Given the description of an element on the screen output the (x, y) to click on. 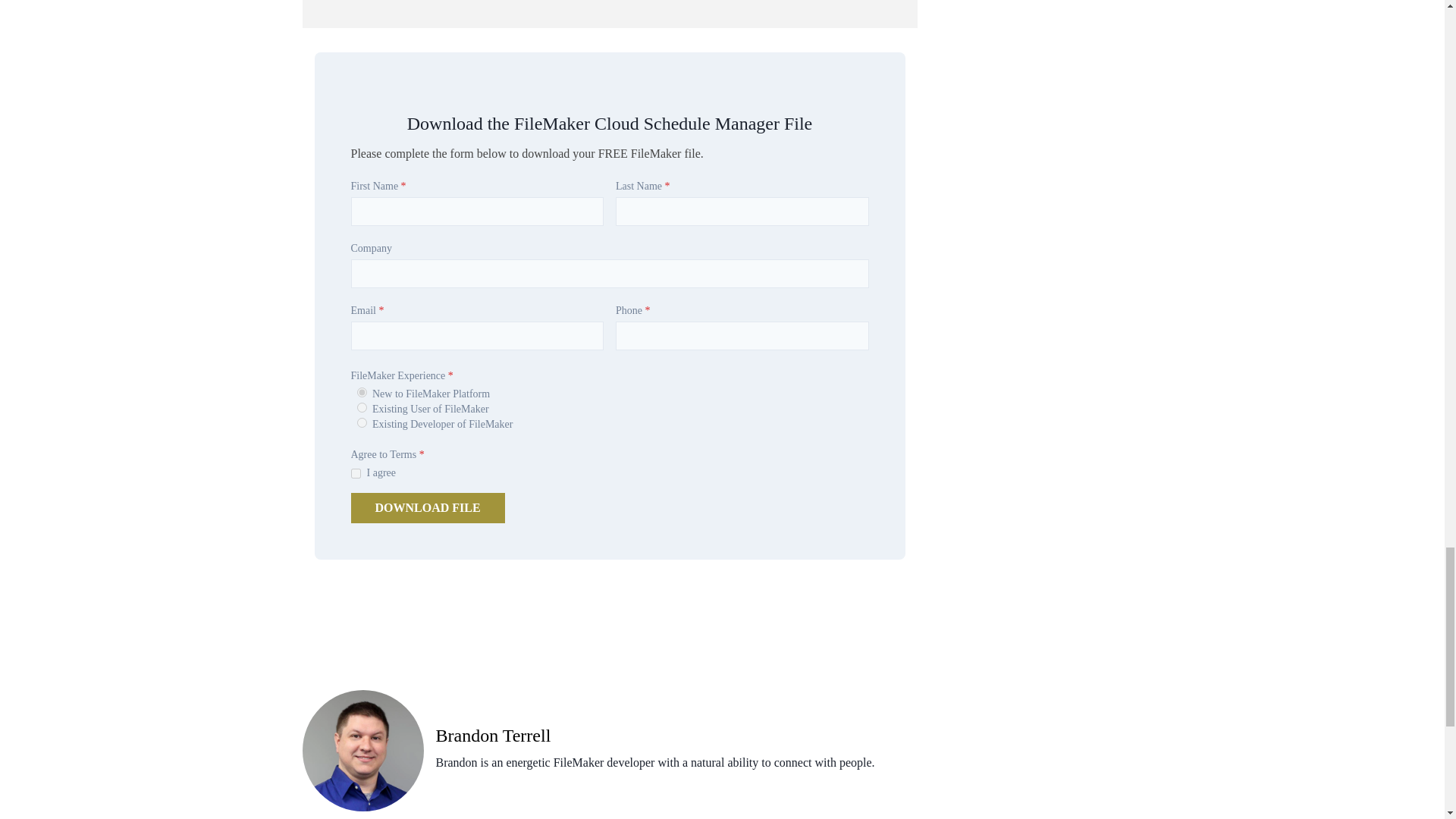
Existing User of FileMaker (361, 407)
New to FileMaker Platform (361, 392)
Existing Developer of FileMaker (361, 422)
yes (354, 473)
